Given the description of an element on the screen output the (x, y) to click on. 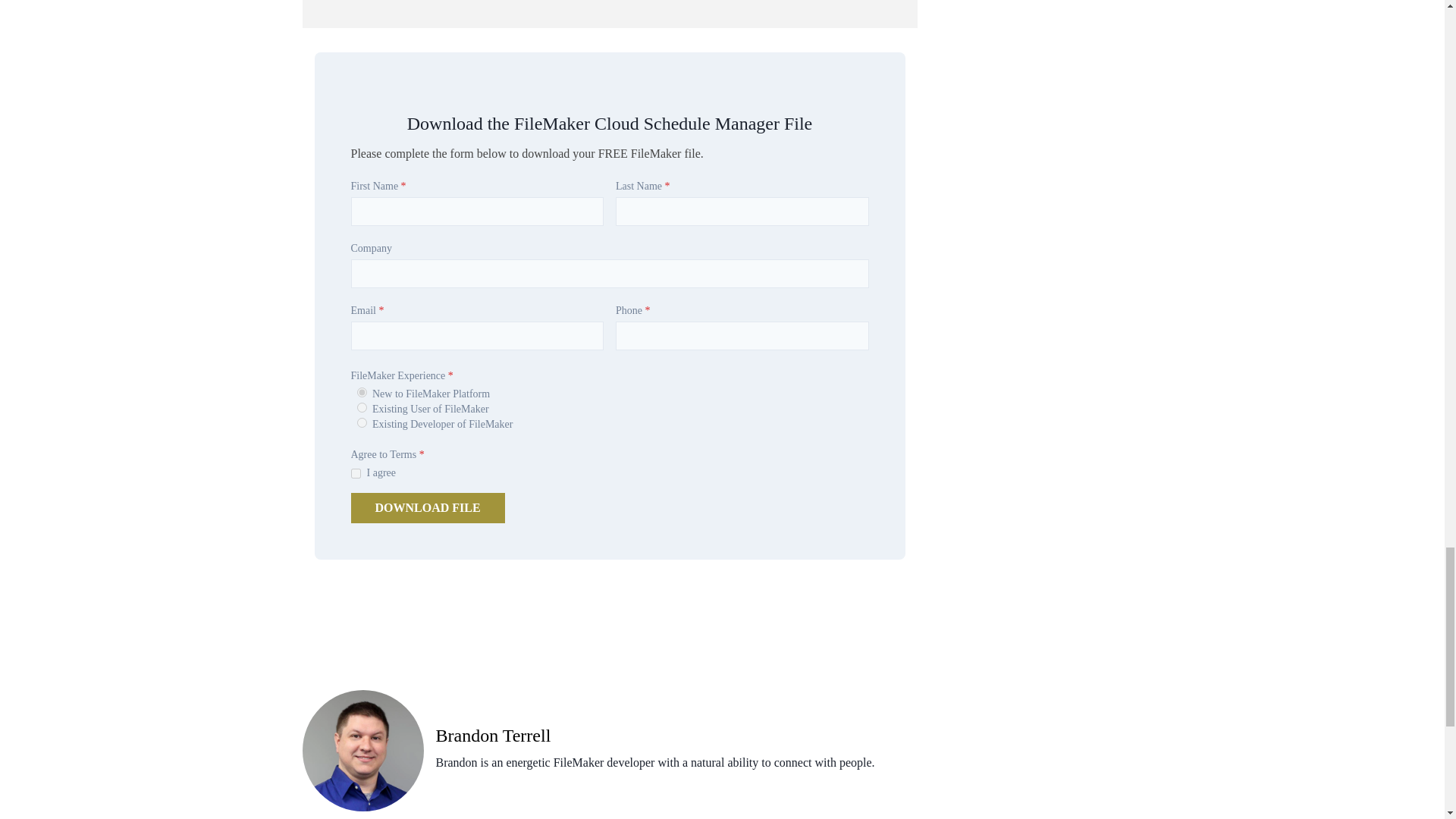
Existing User of FileMaker (361, 407)
New to FileMaker Platform (361, 392)
Existing Developer of FileMaker (361, 422)
yes (354, 473)
